Given the description of an element on the screen output the (x, y) to click on. 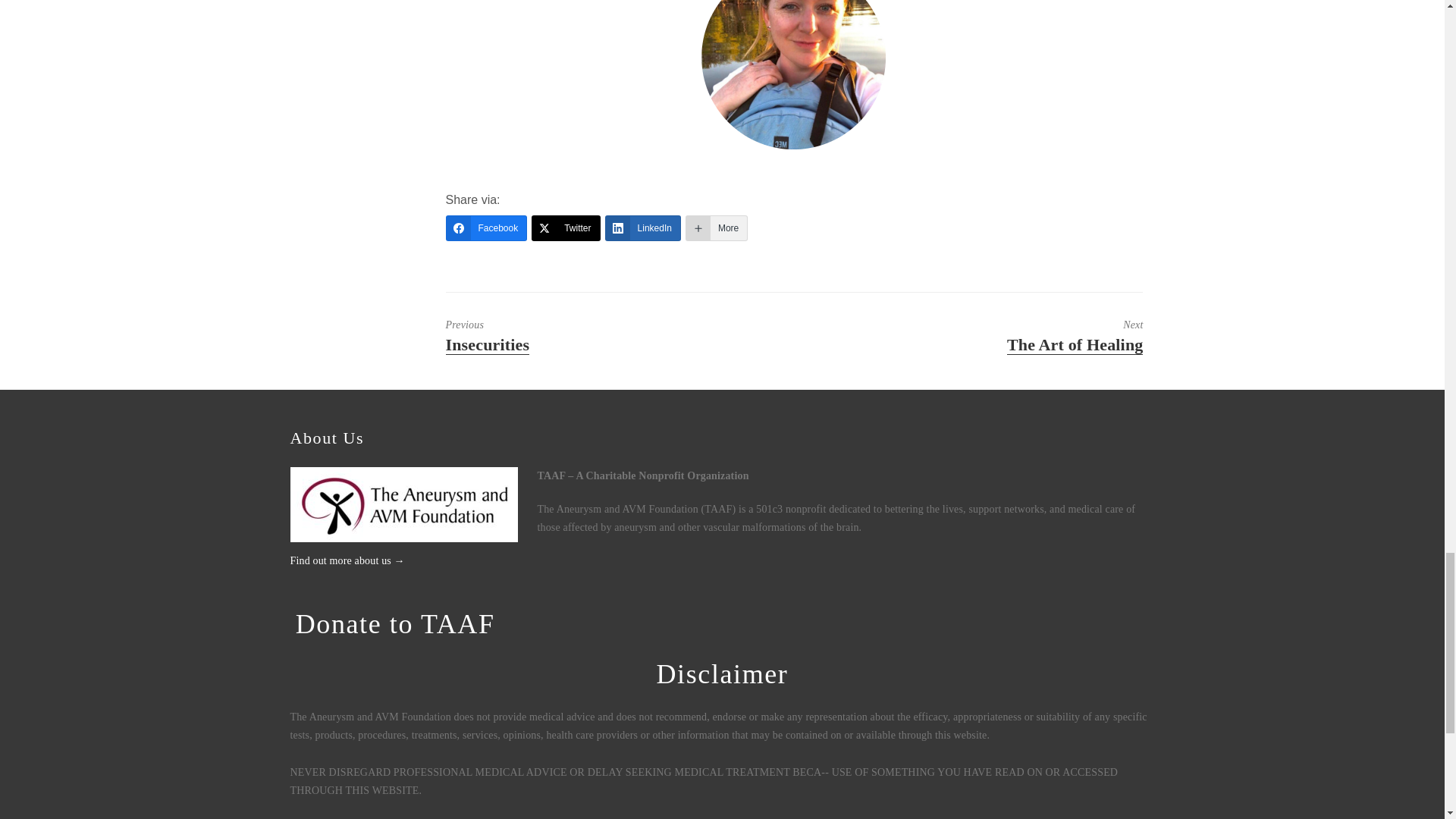
LinkedIn (643, 227)
Facebook (486, 227)
Twitter (565, 227)
Donate to TAAF (584, 336)
More (395, 624)
